Given the description of an element on the screen output the (x, y) to click on. 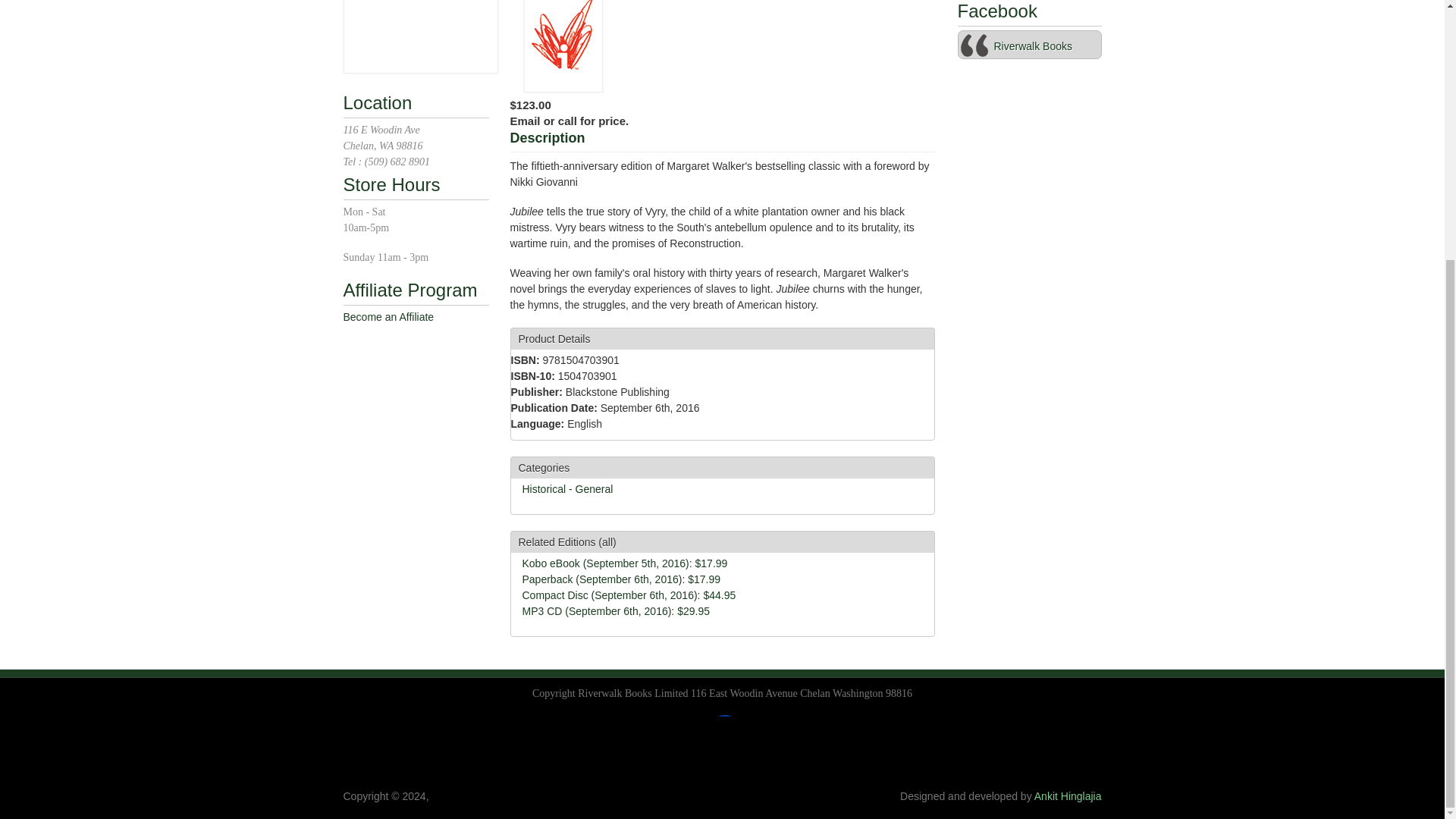
Ankit Hinglajia (1067, 796)
Become an Affiliate (387, 316)
Historical - General (566, 489)
Riverwalk Books (1031, 46)
